Given the description of an element on the screen output the (x, y) to click on. 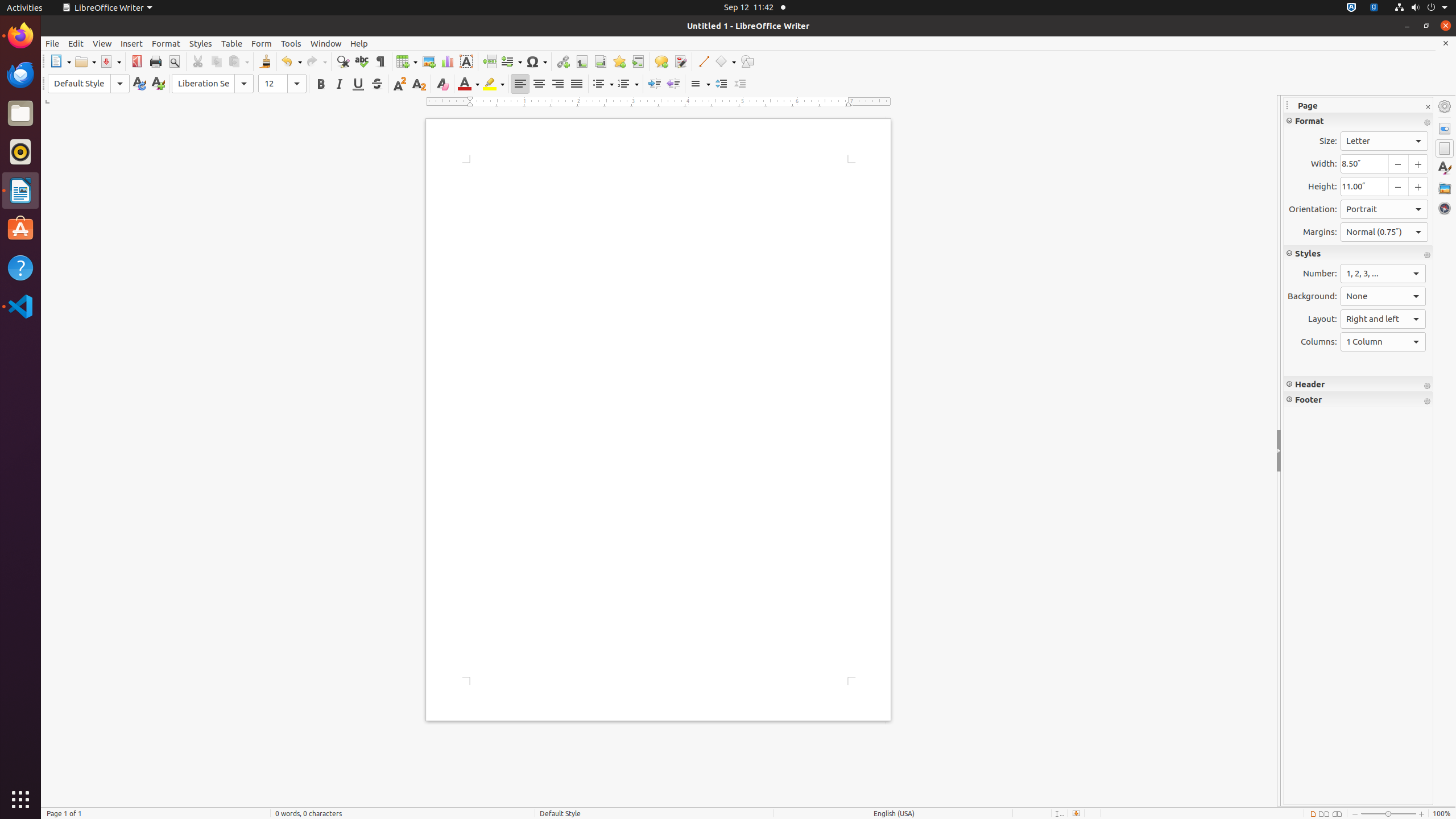
Navigator Element type: radio-button (1444, 208)
Background: Element type: combo-box (1382, 295)
Ubuntu Software Element type: push-button (20, 229)
Footnote Element type: push-button (581, 61)
Save Element type: push-button (109, 61)
